Given the description of an element on the screen output the (x, y) to click on. 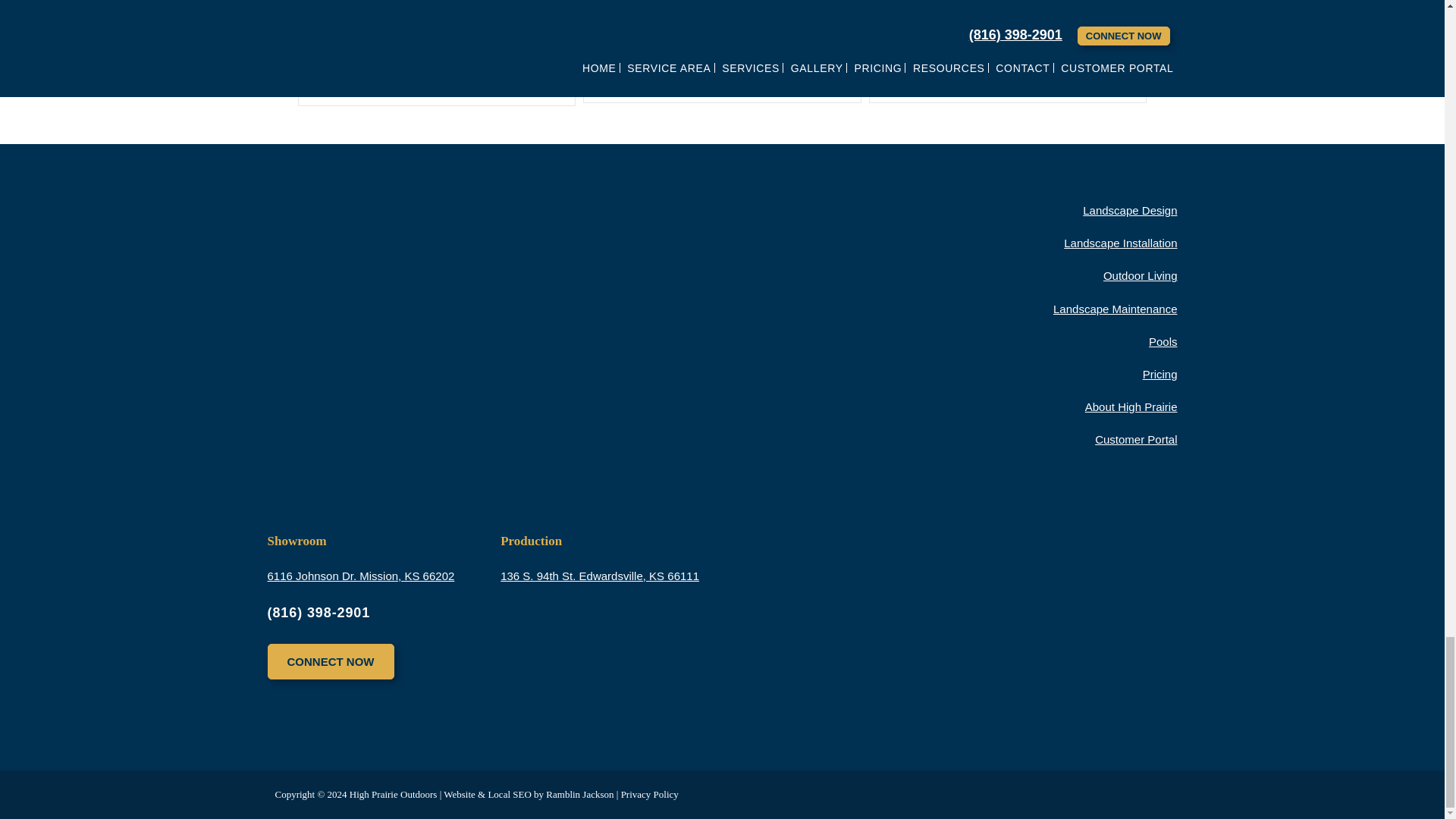
What is Hardscape Cleaning and Servicing? (986, 2)
